Given the description of an element on the screen output the (x, y) to click on. 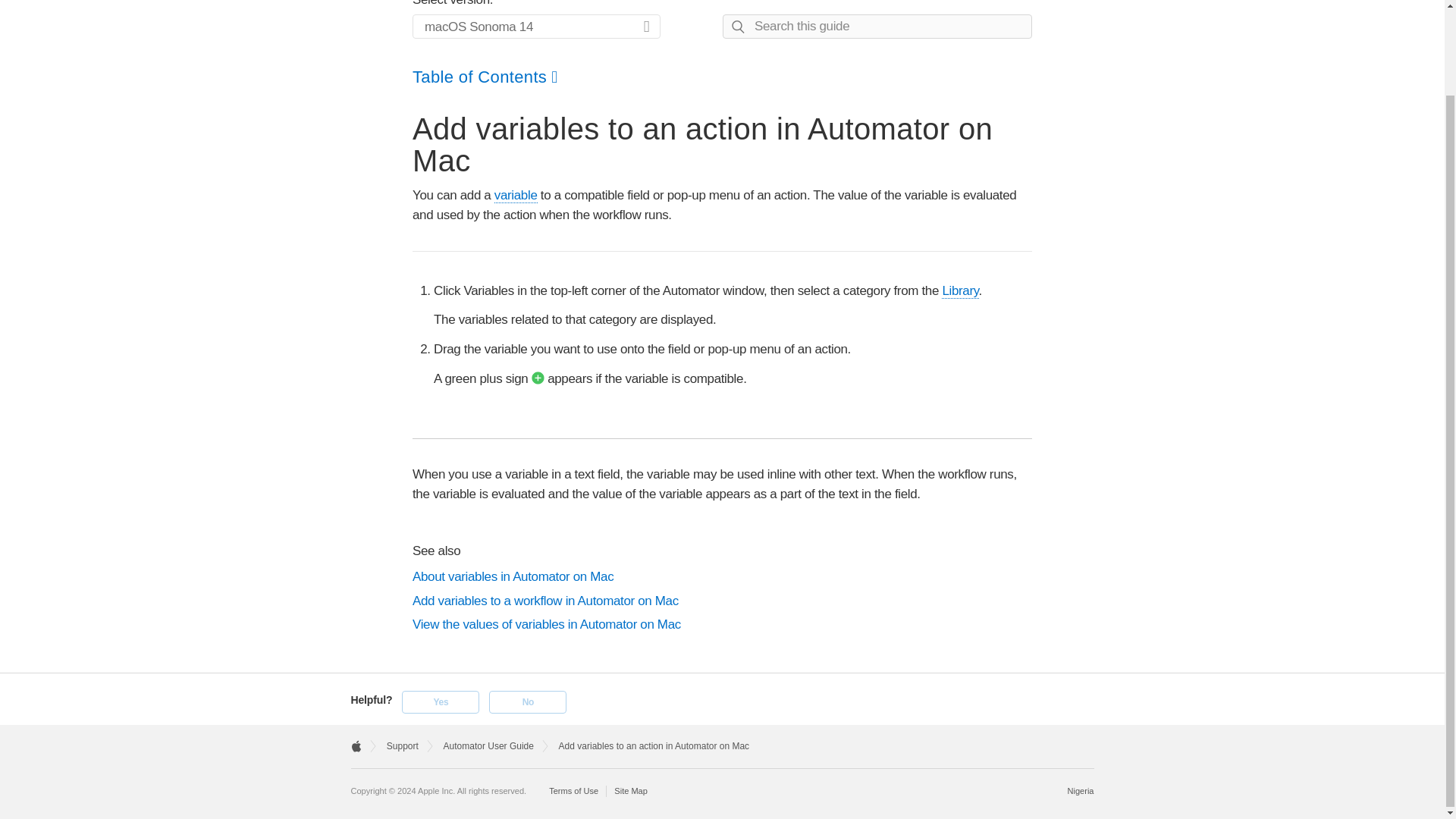
Solved my problem (440, 702)
Not helpful (527, 702)
Choose your country or region (1080, 790)
